Given the description of an element on the screen output the (x, y) to click on. 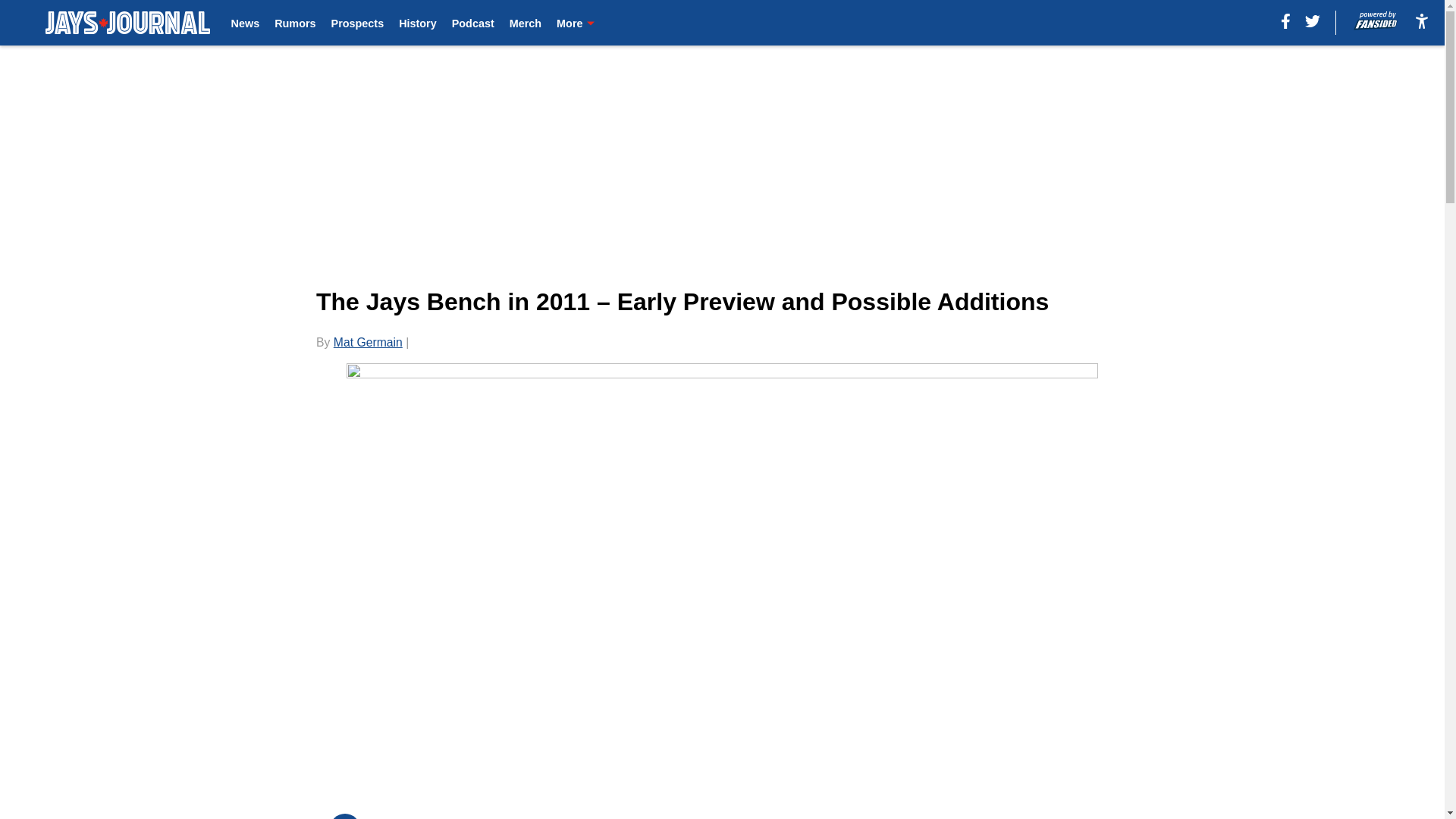
Rumors (295, 23)
Podcast (473, 23)
Merch (525, 23)
Prospects (357, 23)
Mat Germain (368, 341)
History (417, 23)
News (245, 23)
